Given the description of an element on the screen output the (x, y) to click on. 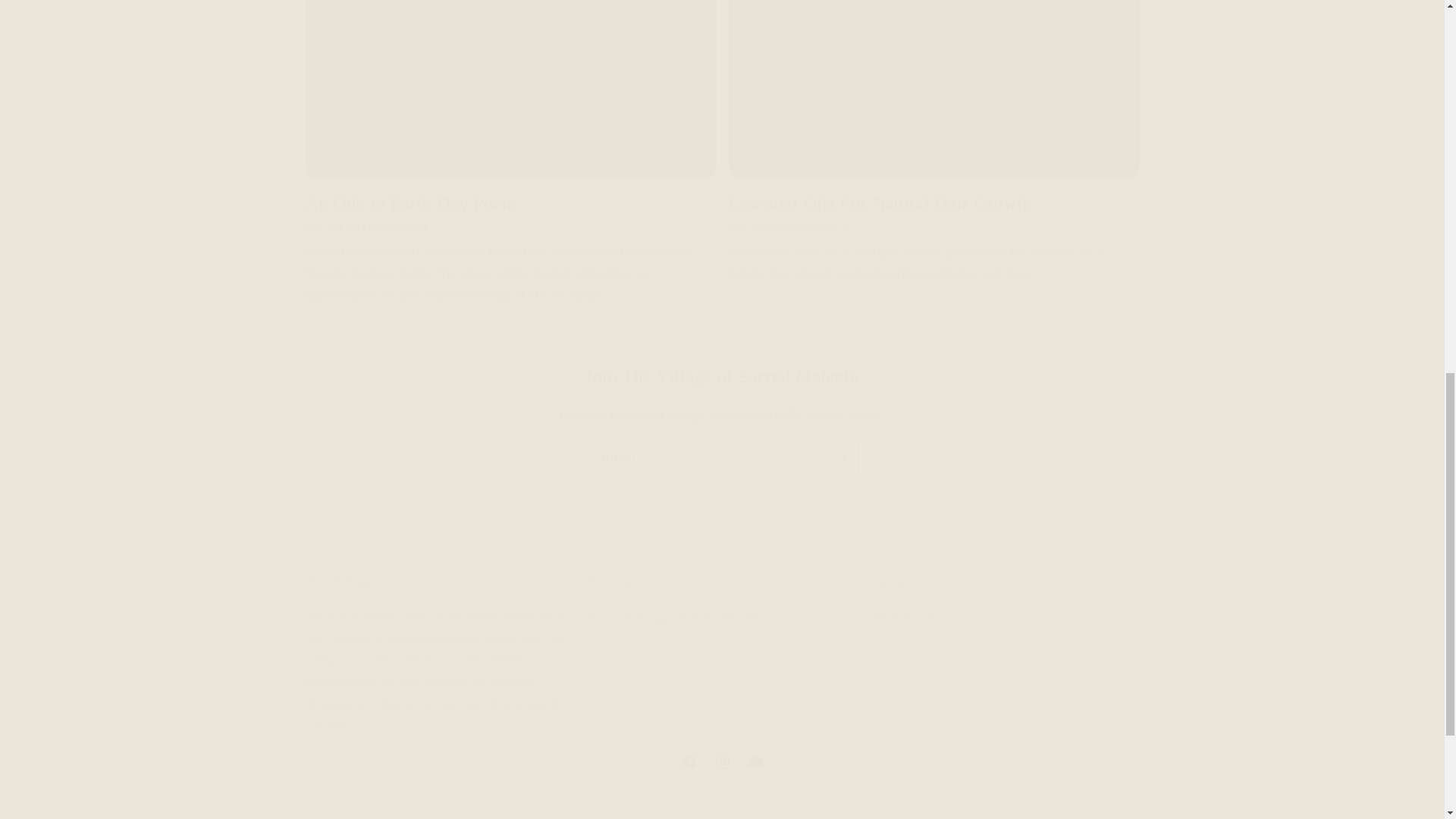
Email (722, 457)
Get in Touch (901, 619)
Instagram (721, 761)
Receive exclusive village updates directly to your inbox. (722, 414)
YouTube (754, 761)
Essential Oils For Natural Hair Growth (933, 203)
Do not sell my personal information (677, 619)
Join The Village of Sacred Melanin (1003, 655)
Facebook (721, 376)
